Given the description of an element on the screen output the (x, y) to click on. 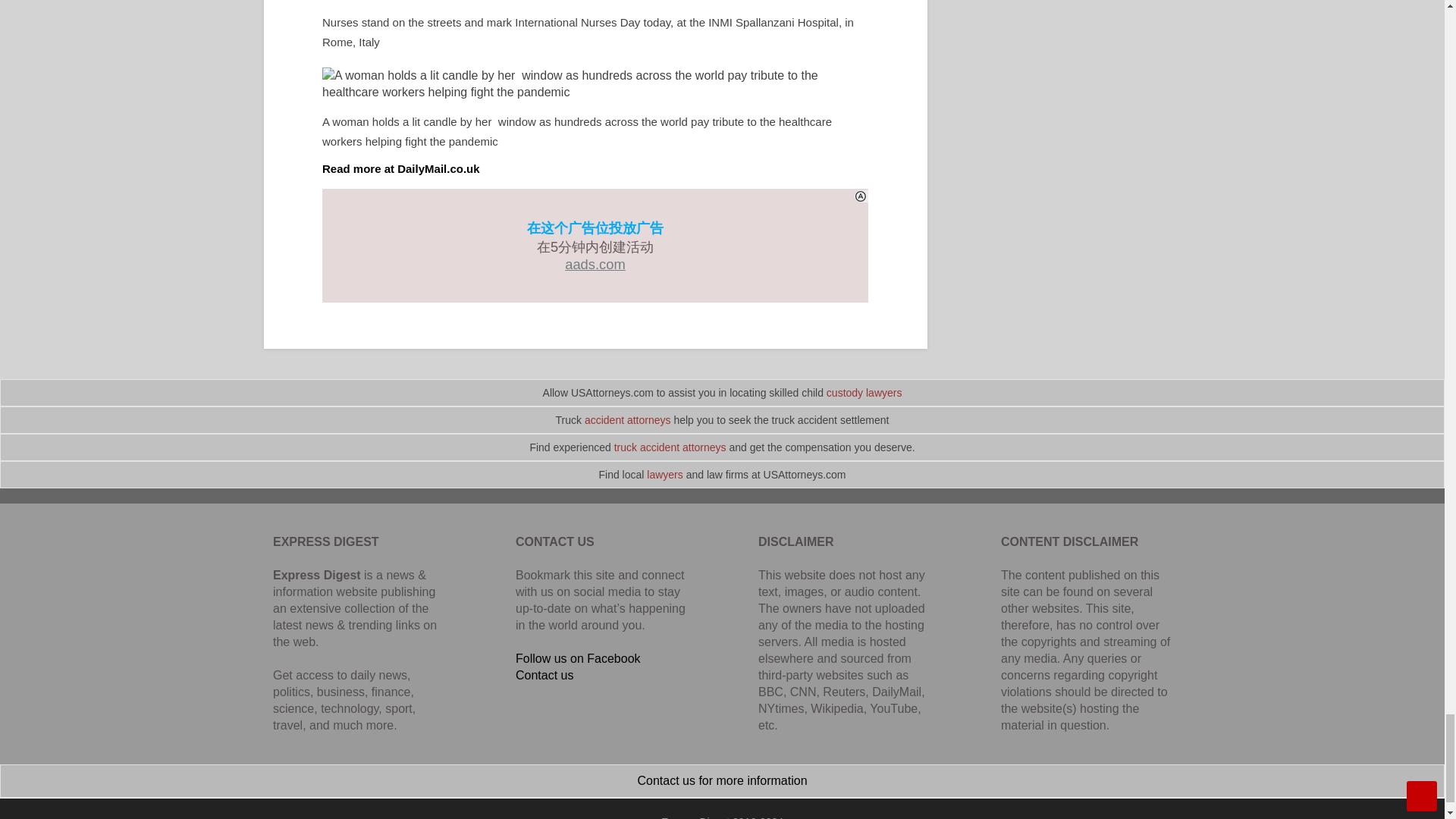
truck accident attorneys (670, 447)
Read more at DailyMail.co.uk (400, 168)
accident attorneys (628, 419)
lawyers (664, 474)
custody lawyers (864, 392)
